Given the description of an element on the screen output the (x, y) to click on. 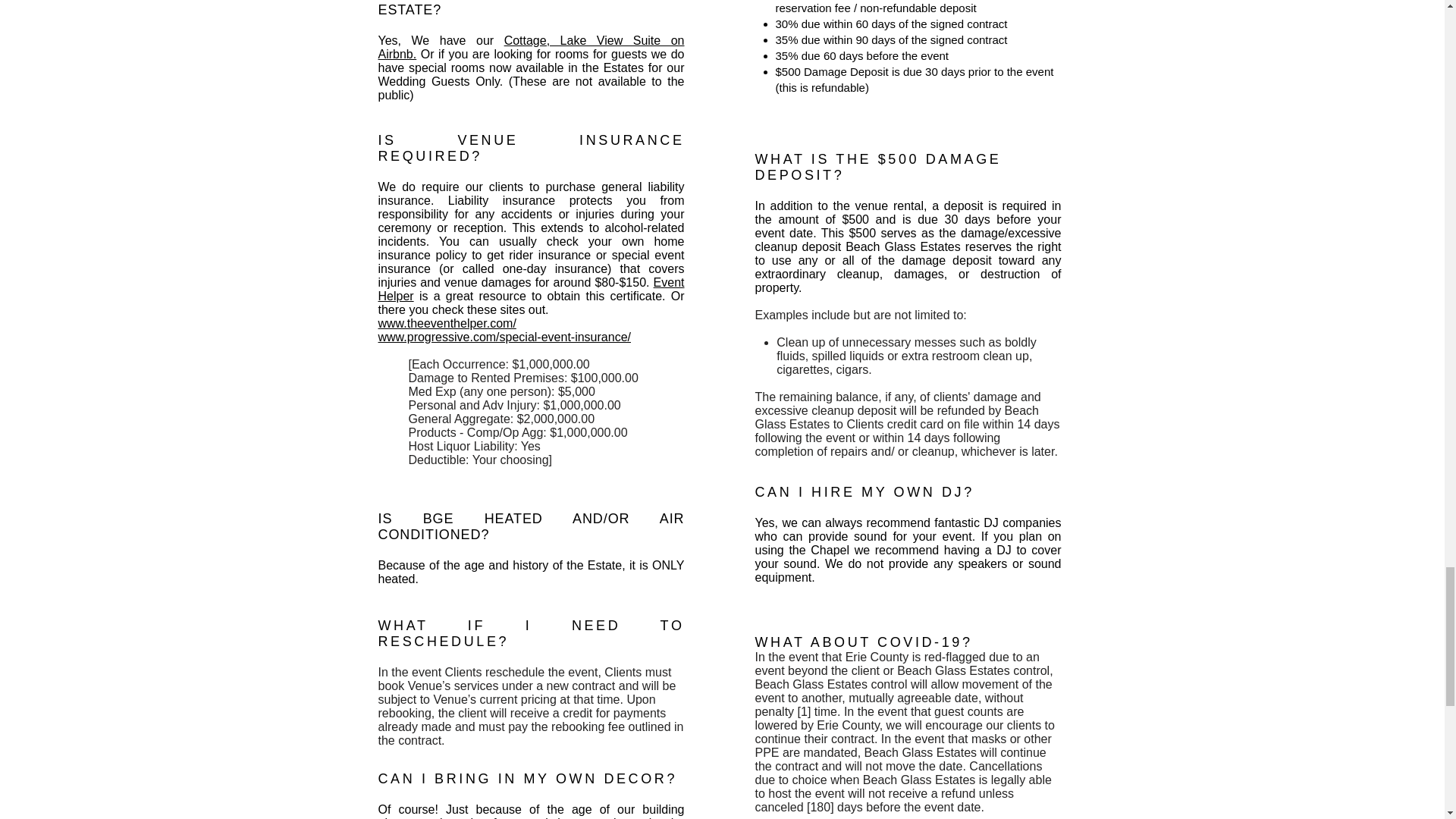
Cottage, Lake View Suite on Airbnb. (530, 47)
Event Helper (530, 289)
